Given the description of an element on the screen output the (x, y) to click on. 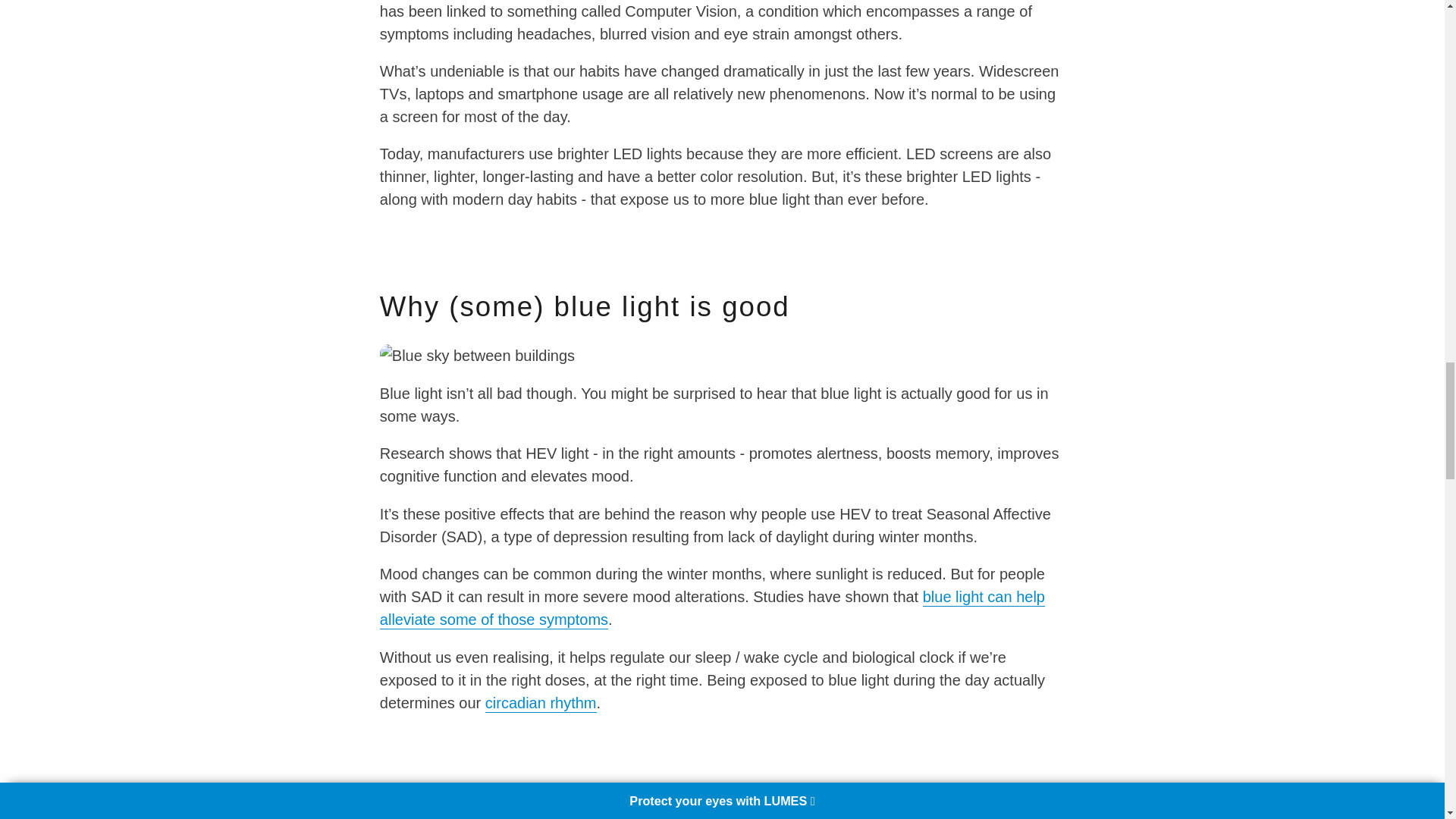
blue light can help alleviate some of those symptoms (712, 608)
circadian rhythm (540, 703)
